Given the description of an element on the screen output the (x, y) to click on. 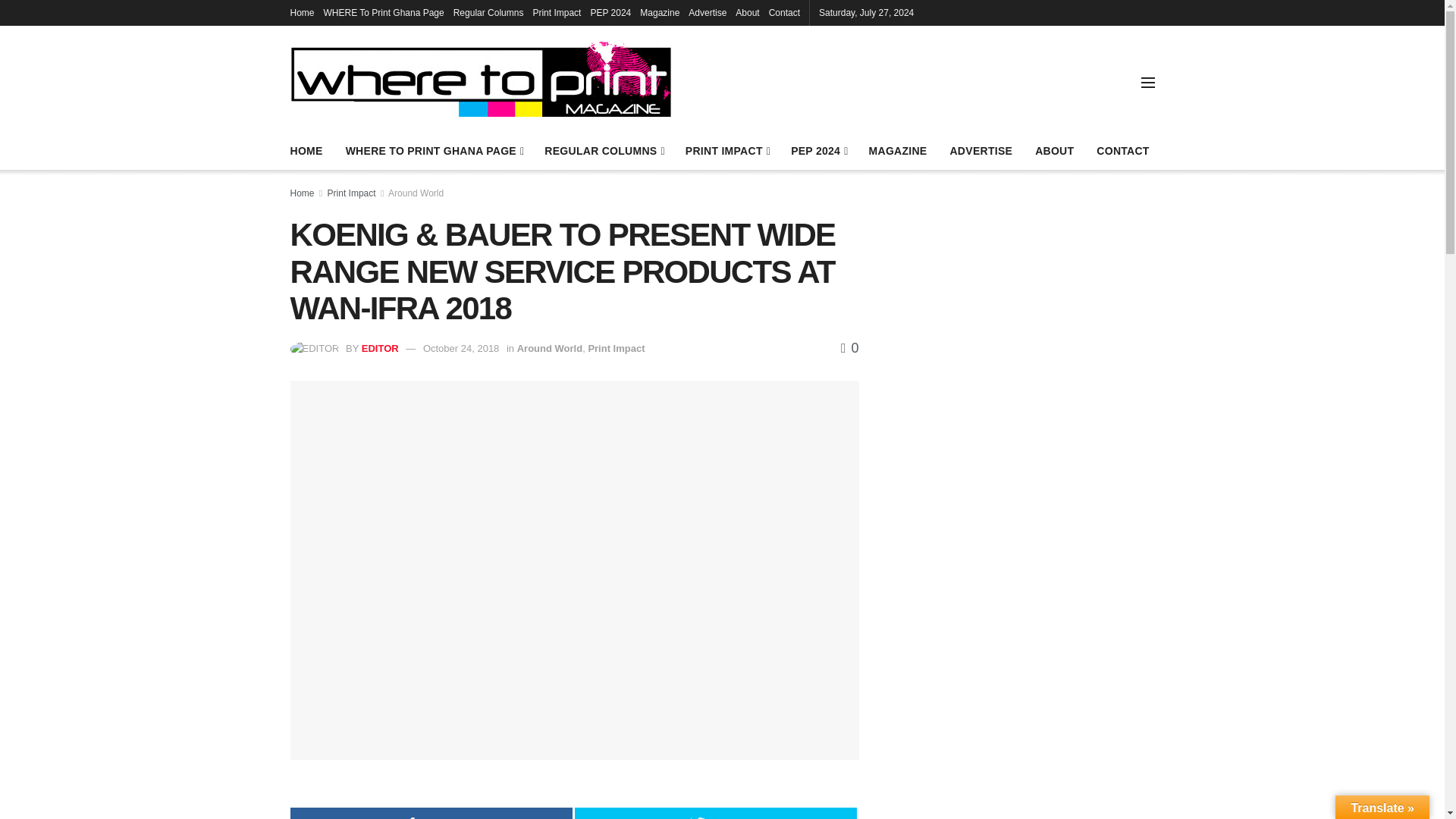
Magazine (659, 12)
REGULAR COLUMNS (603, 150)
WHERE TO PRINT GHANA PAGE (434, 150)
About (746, 12)
Advertise (707, 12)
PEP 2024 (609, 12)
Print Impact (556, 12)
HOME (305, 150)
Contact (783, 12)
Regular Columns (488, 12)
Home (301, 12)
WHERE To Print Ghana Page (383, 12)
